Given the description of an element on the screen output the (x, y) to click on. 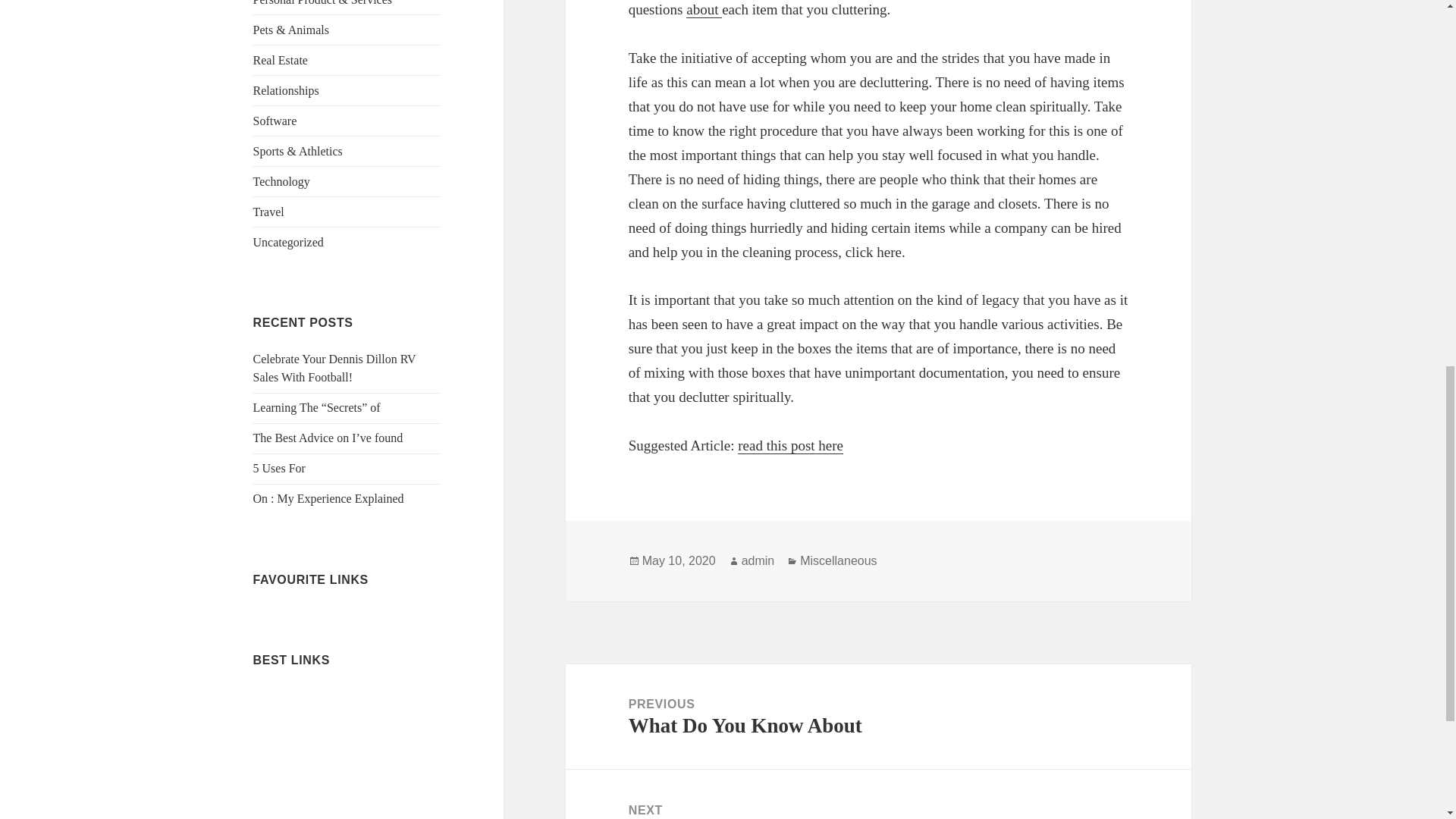
Relationships (285, 90)
May 10, 2020 (679, 561)
Celebrate Your Dennis Dillon RV Sales With Football! (334, 368)
Technology (281, 181)
admin (757, 561)
read this post here (790, 445)
Software (275, 120)
5 Uses For (279, 468)
On : My Experience Explained (328, 498)
Travel (268, 211)
